Given the description of an element on the screen output the (x, y) to click on. 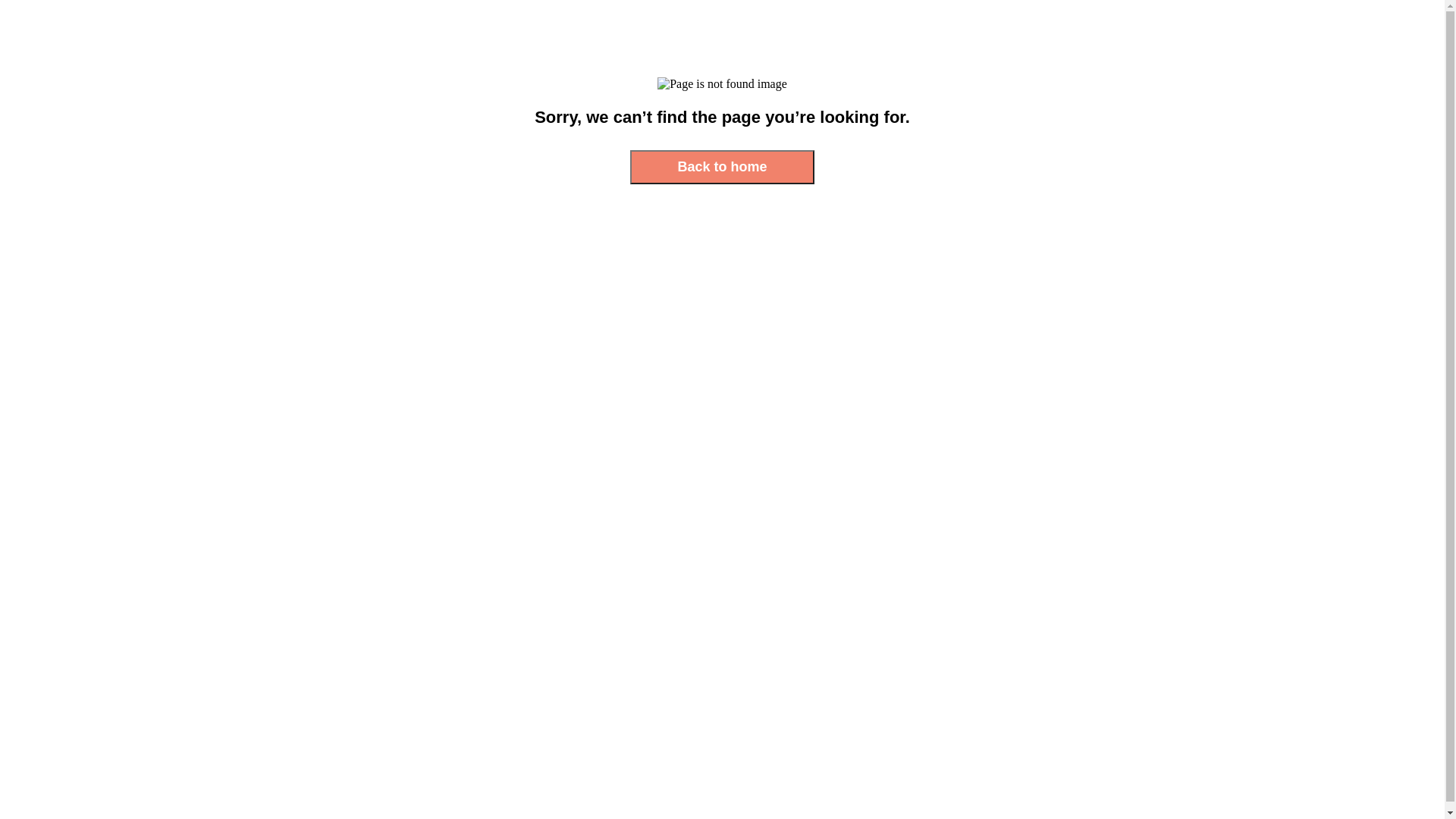
Back to home Element type: text (721, 167)
Back to home Element type: text (721, 166)
